Given the description of an element on the screen output the (x, y) to click on. 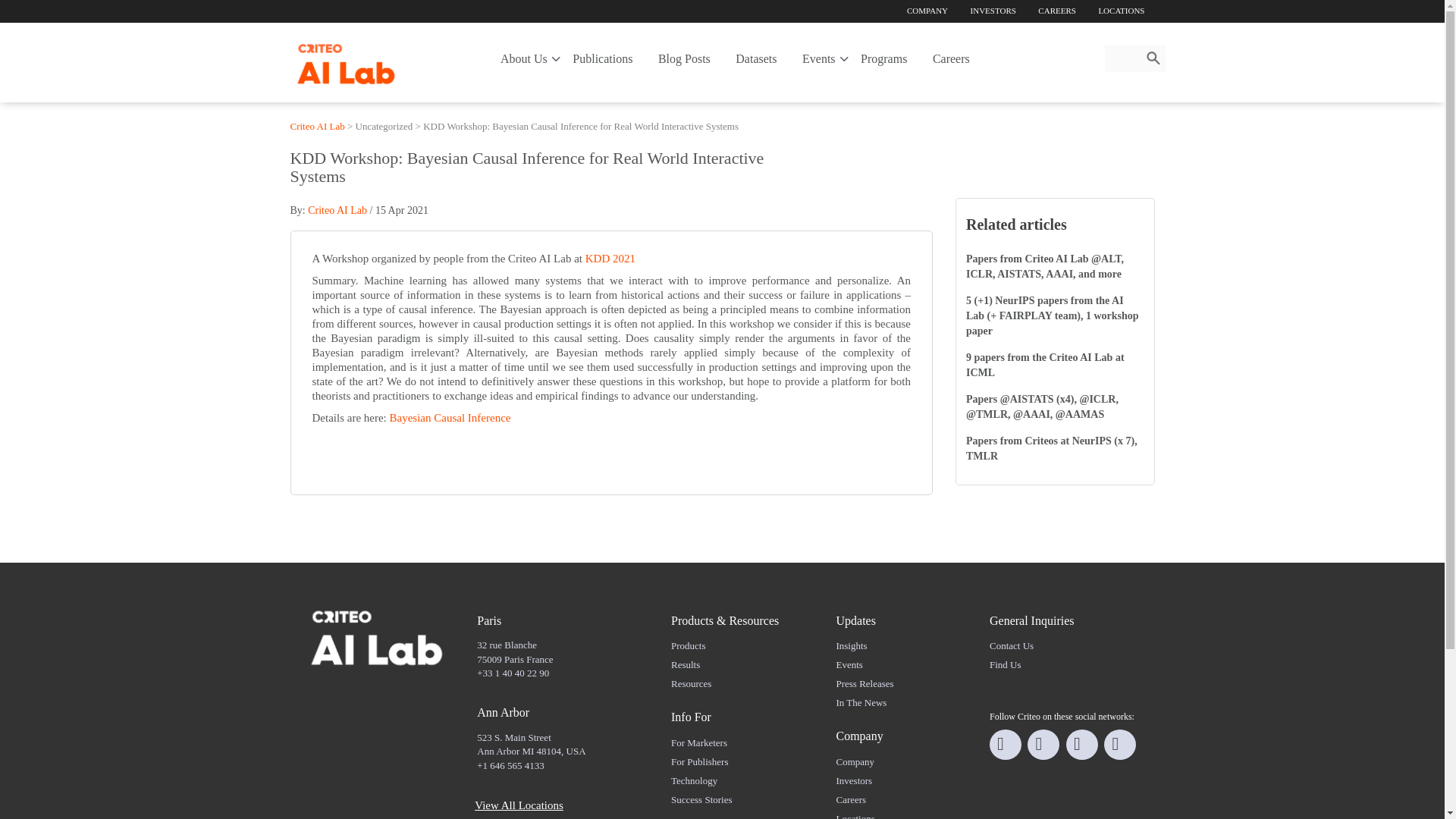
CAREERS (1056, 11)
Search (1153, 58)
Search (1153, 58)
Go to Criteo AI Lab. (316, 125)
Success Stories (701, 799)
View All Locations (518, 805)
Products (688, 645)
Events (818, 55)
Go to the Uncategorized category archives. (384, 125)
KDD 2021 (609, 258)
Datasets (755, 55)
Careers (951, 55)
Uncategorized (384, 125)
COMPANY (927, 11)
Insights (850, 645)
